Given the description of an element on the screen output the (x, y) to click on. 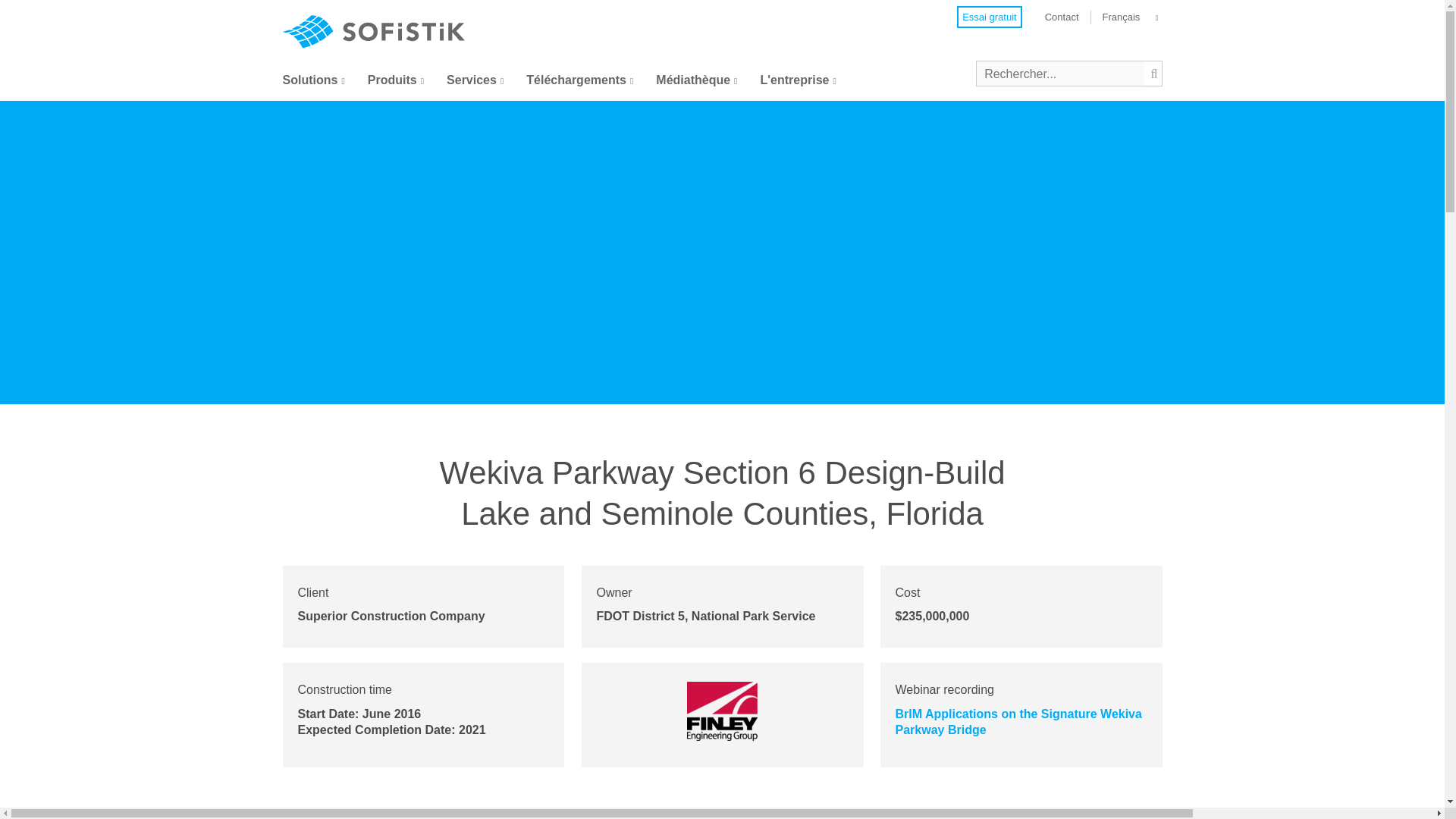
Contact (1061, 16)
Essai gratuit (989, 16)
